Given the description of an element on the screen output the (x, y) to click on. 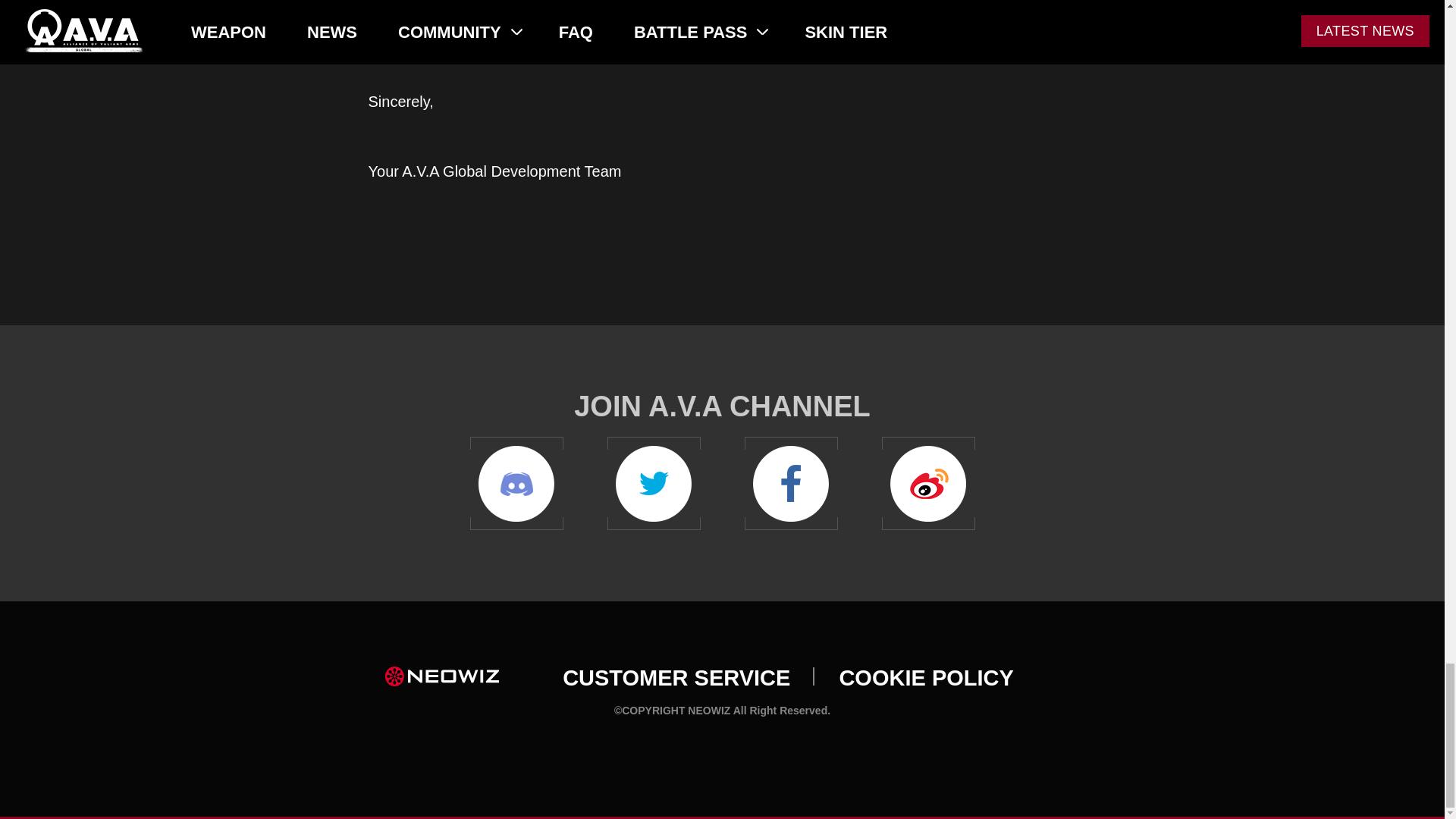
CUSTOMER SERVICE (676, 677)
NEOWIZ (442, 676)
Facebook (791, 482)
Weibo (927, 482)
Discord (516, 482)
COOKIE POLICY (925, 677)
Twitter (653, 482)
